Given the description of an element on the screen output the (x, y) to click on. 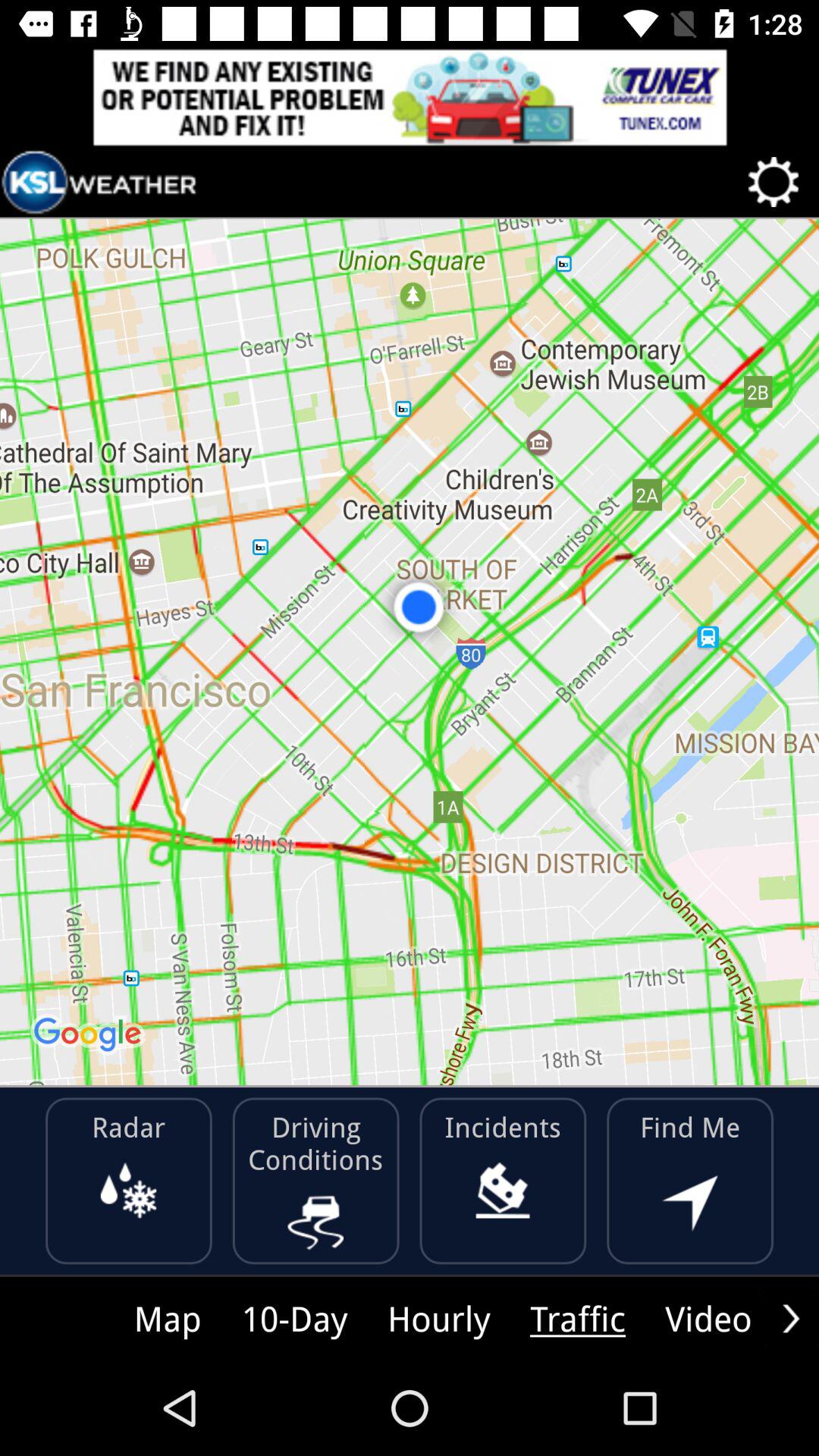
view more options (791, 1318)
